Given the description of an element on the screen output the (x, y) to click on. 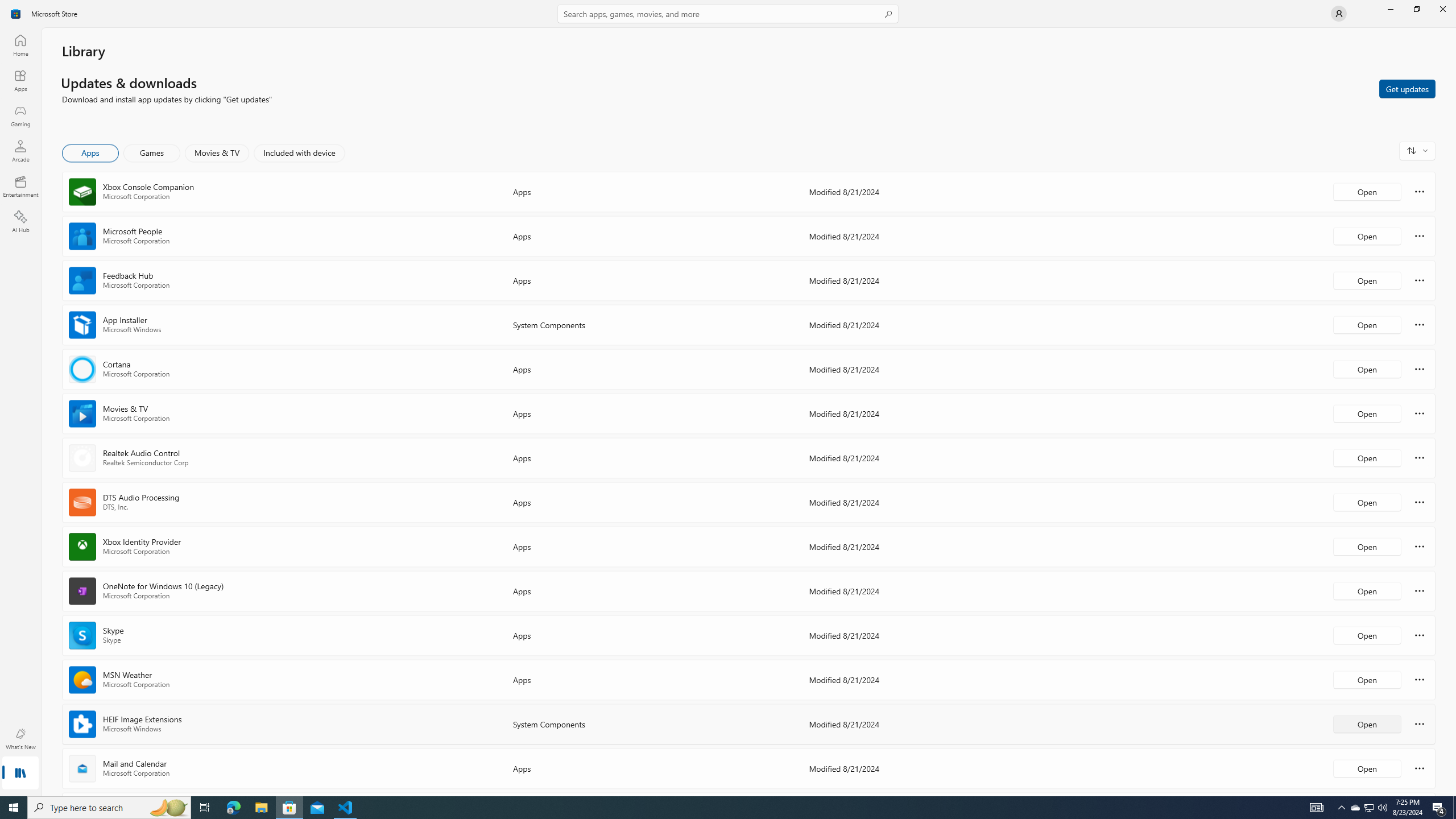
Home (20, 45)
User profile (1338, 13)
Apps (20, 80)
Close Microsoft Store (1442, 9)
Minimize Microsoft Store (1390, 9)
What's New (20, 738)
Movies & TV (216, 153)
Apps (90, 153)
